Given the description of an element on the screen output the (x, y) to click on. 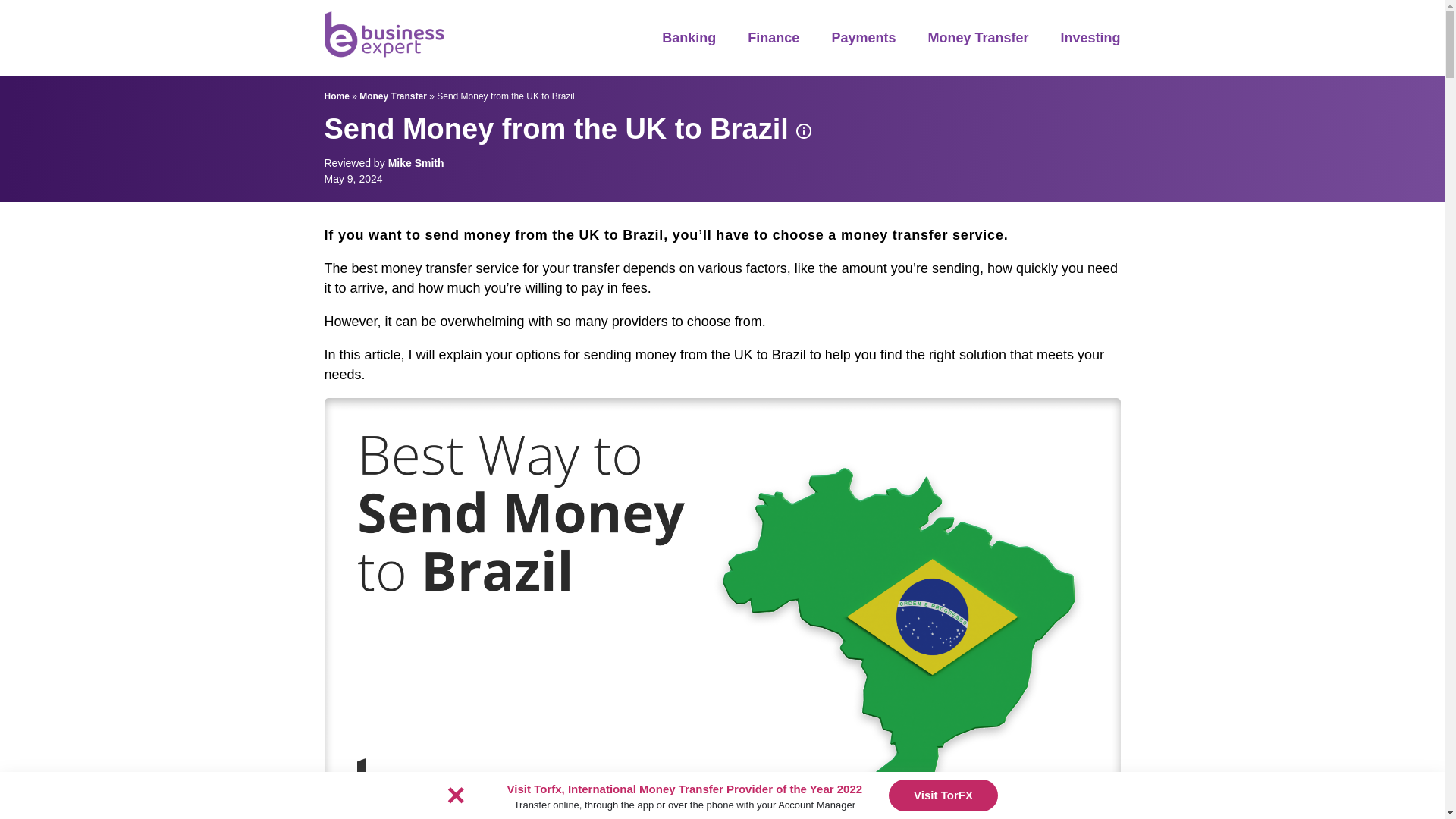
Banking (689, 37)
Money Transfer (977, 37)
Payments (863, 37)
Finance (773, 37)
